Given the description of an element on the screen output the (x, y) to click on. 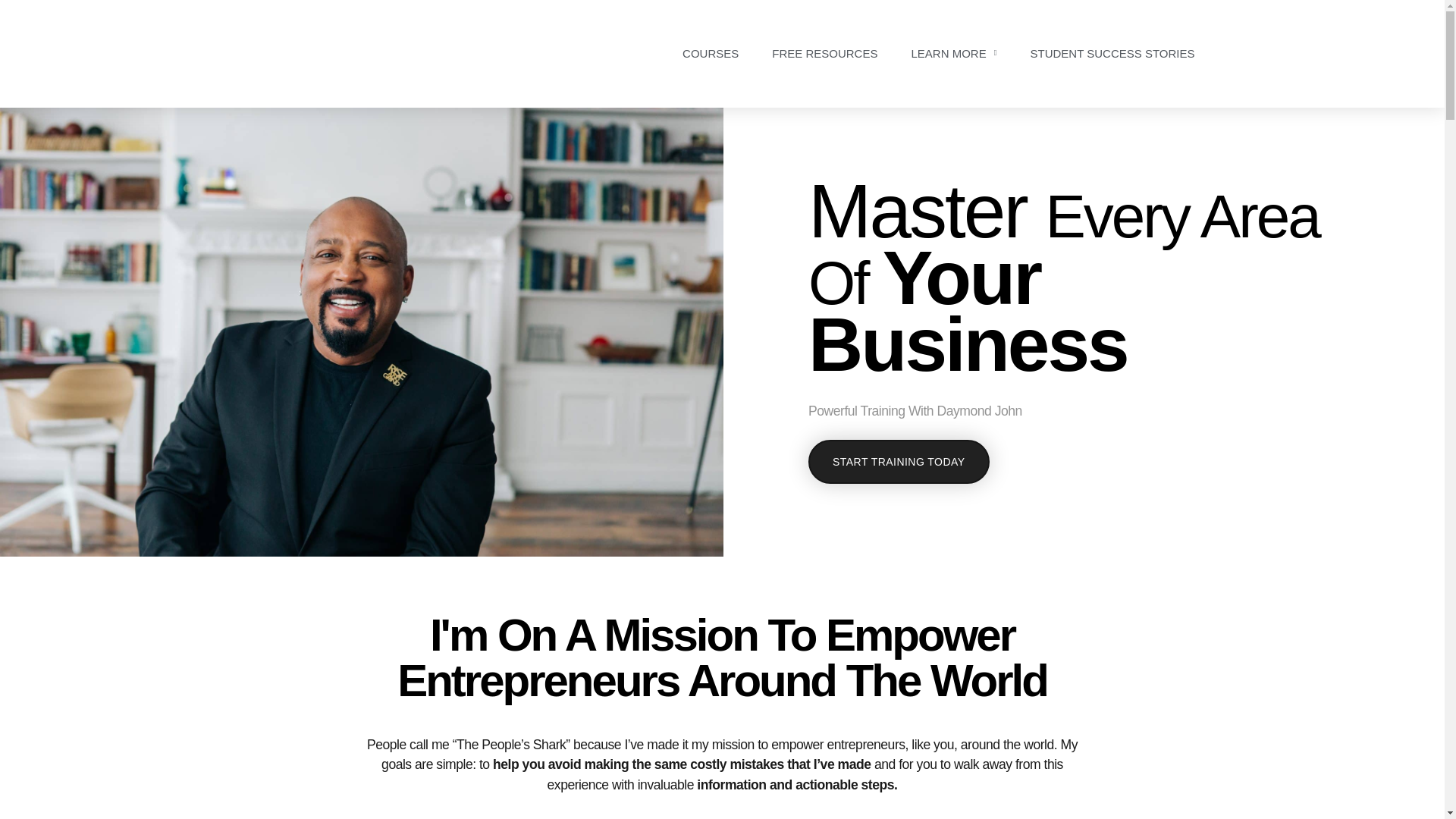
COURSES (710, 53)
START TRAINING TODAY (898, 461)
FREE RESOURCES (824, 53)
STUDENT SUCCESS STORIES (1112, 53)
LEARN MORE (953, 53)
